Given the description of an element on the screen output the (x, y) to click on. 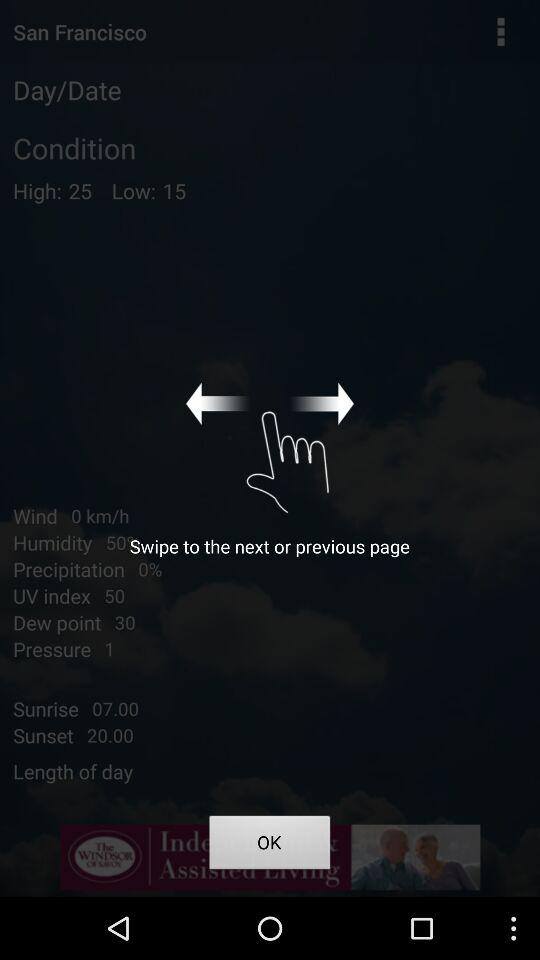
click icon at the bottom (269, 845)
